Given the description of an element on the screen output the (x, y) to click on. 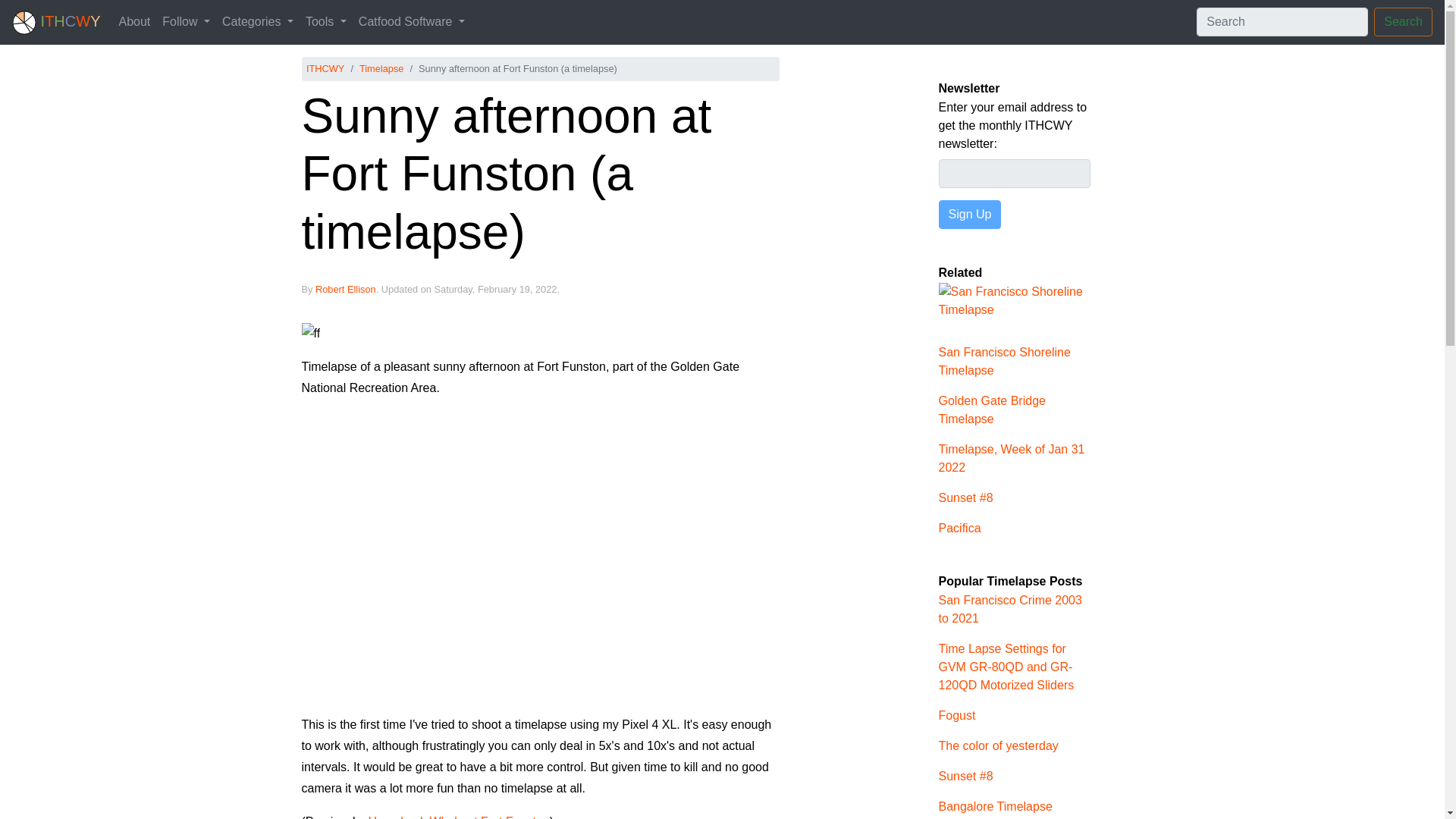
About (133, 21)
Follow (185, 21)
Search (1403, 21)
Tools (325, 21)
Catfood Software (411, 21)
ITHCWY (324, 68)
Timelapse (381, 68)
Robert Ellison (345, 288)
Humpback Whale at Fort Funston (459, 816)
San Francisco Shoreline Timelapse (1014, 311)
